Given the description of an element on the screen output the (x, y) to click on. 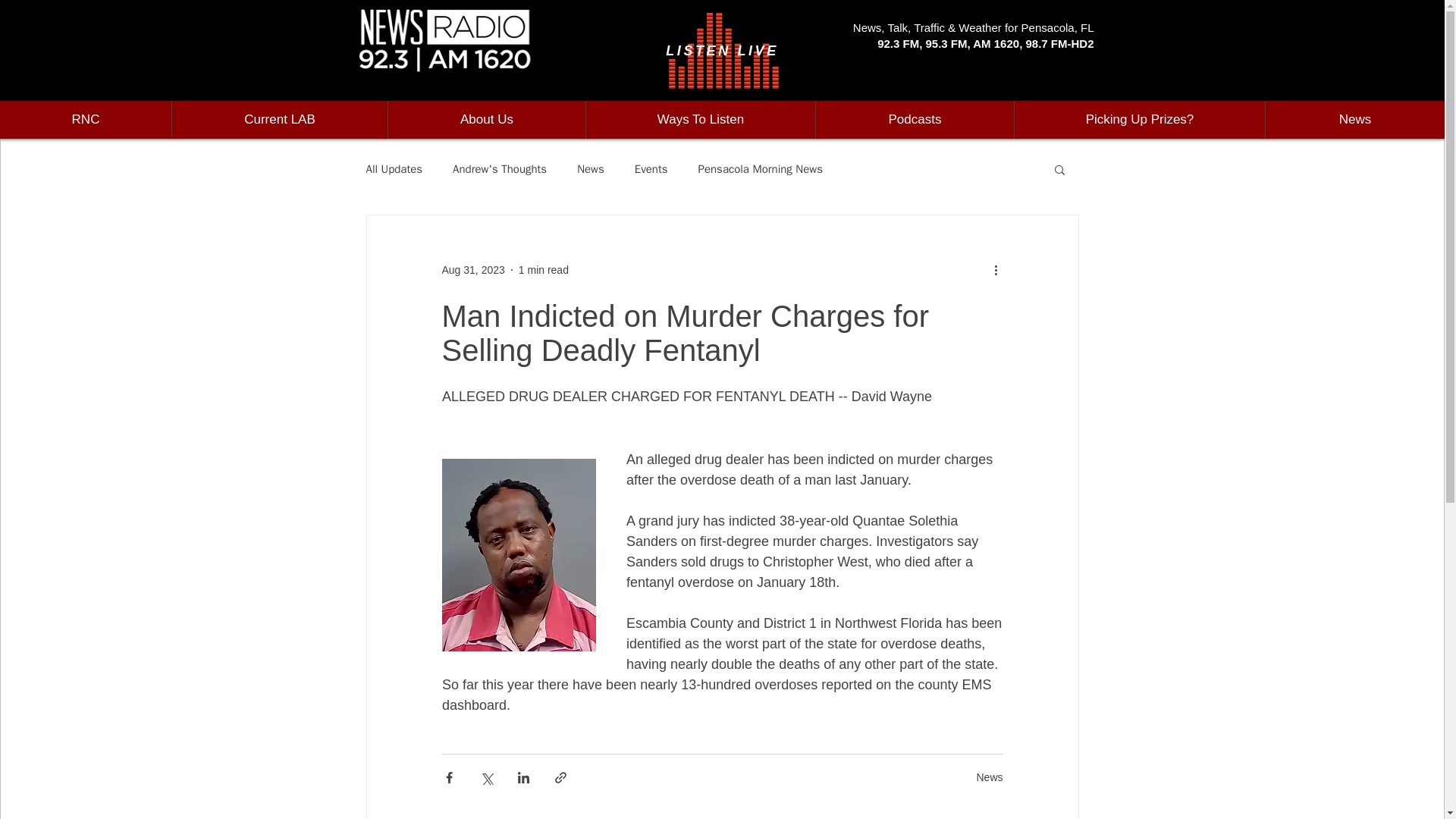
Current LAB (279, 119)
Pensacola Morning News (760, 169)
Podcasts (914, 119)
All Updates (393, 169)
1 min read (543, 269)
Events (651, 169)
LISTEN LIVE (721, 50)
RNC (85, 119)
Picking Up Prizes? (1139, 119)
About Us (486, 119)
News (989, 776)
Aug 31, 2023 (472, 269)
Ways To Listen (700, 119)
News (590, 169)
Andrew's Thoughts (499, 169)
